Given the description of an element on the screen output the (x, y) to click on. 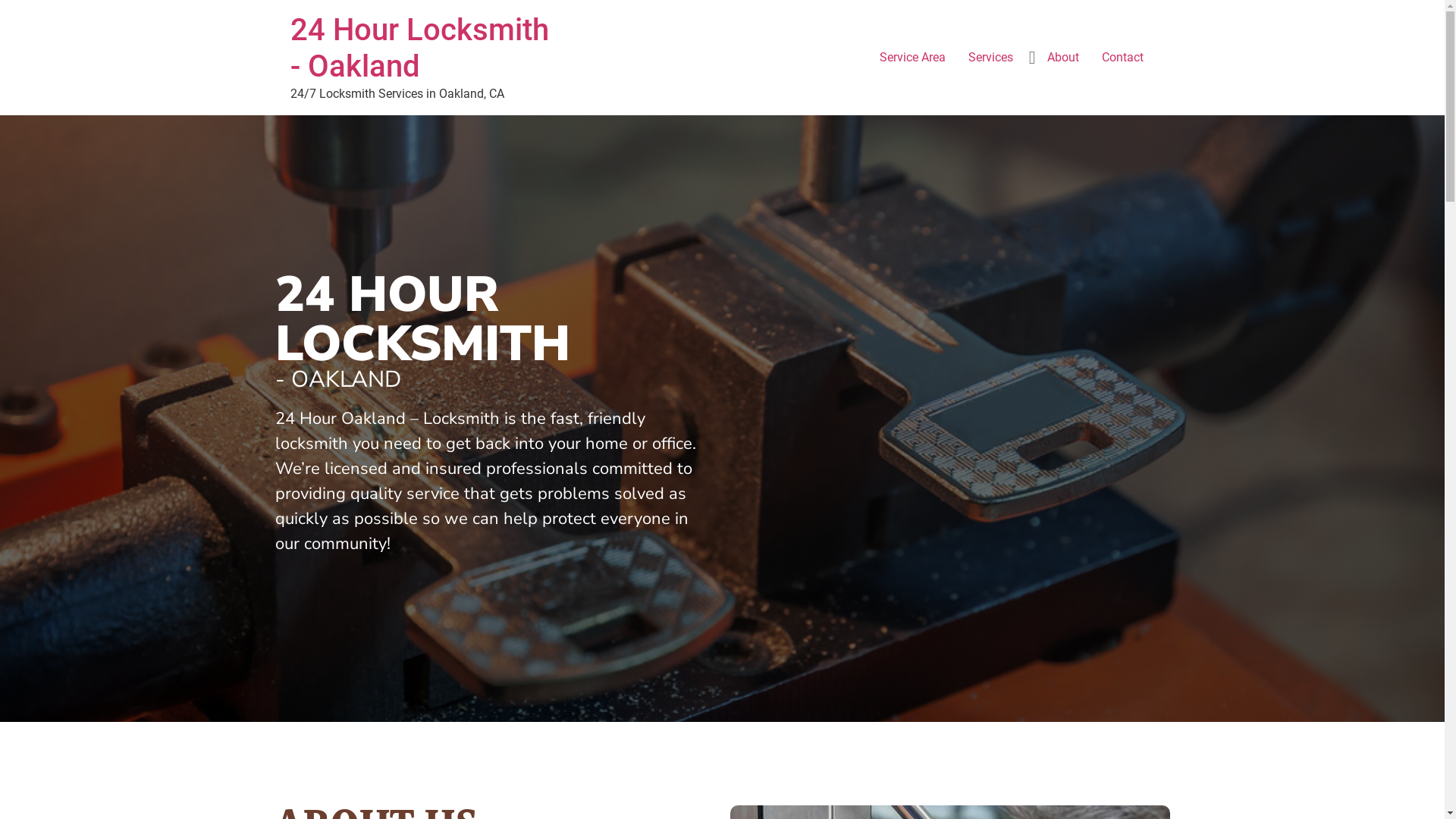
Service Area Element type: text (722, 139)
Contact Element type: text (1122, 57)
24 Hour Locksmith - Oakland Element type: text (418, 48)
24 HOUR
LOCKSMITH Element type: text (421, 318)
About Element type: text (1062, 57)
Services Element type: text (990, 57)
Service Area Element type: text (911, 57)
